Given the description of an element on the screen output the (x, y) to click on. 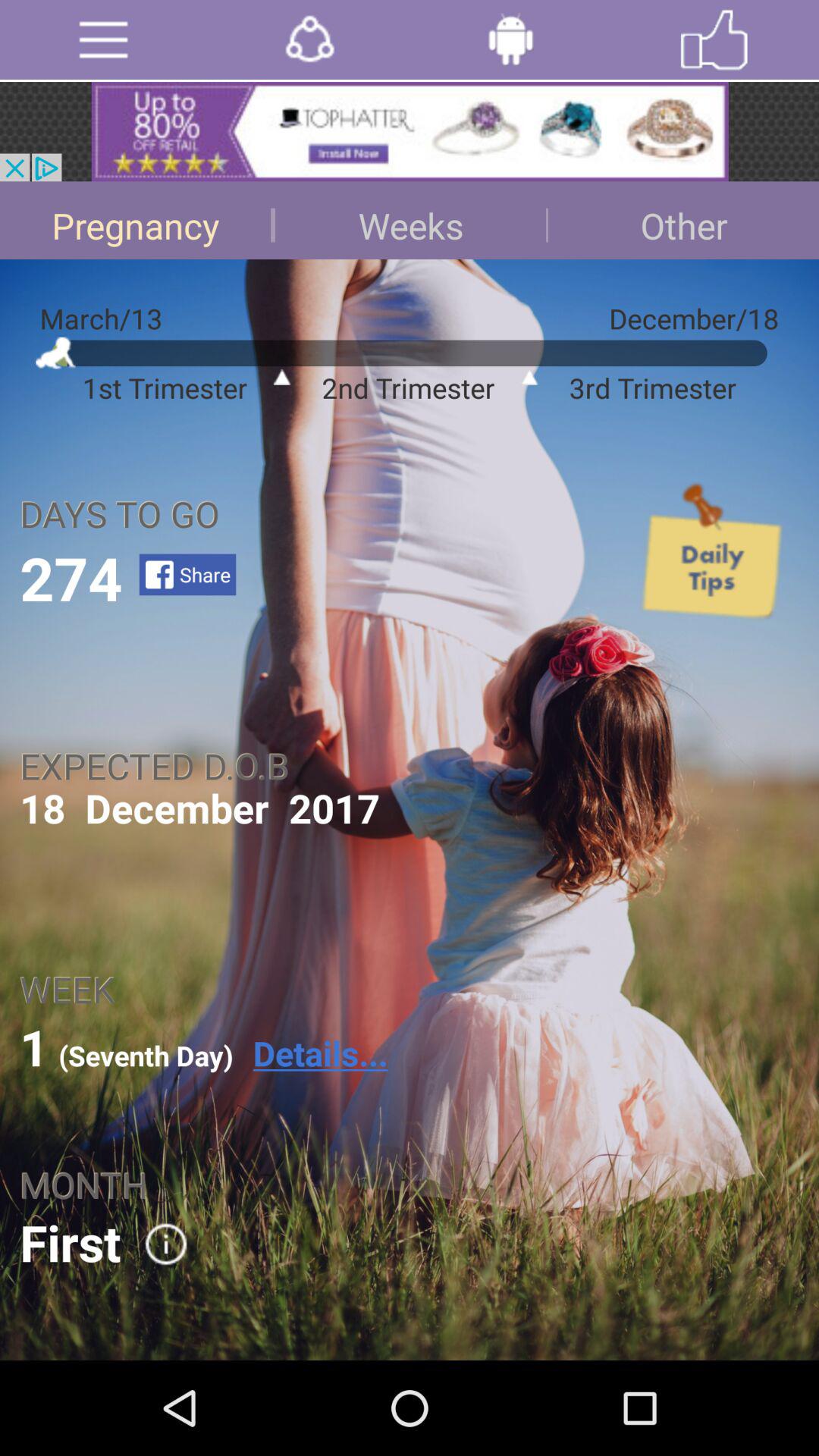
switch autoplay option (309, 39)
